Given the description of an element on the screen output the (x, y) to click on. 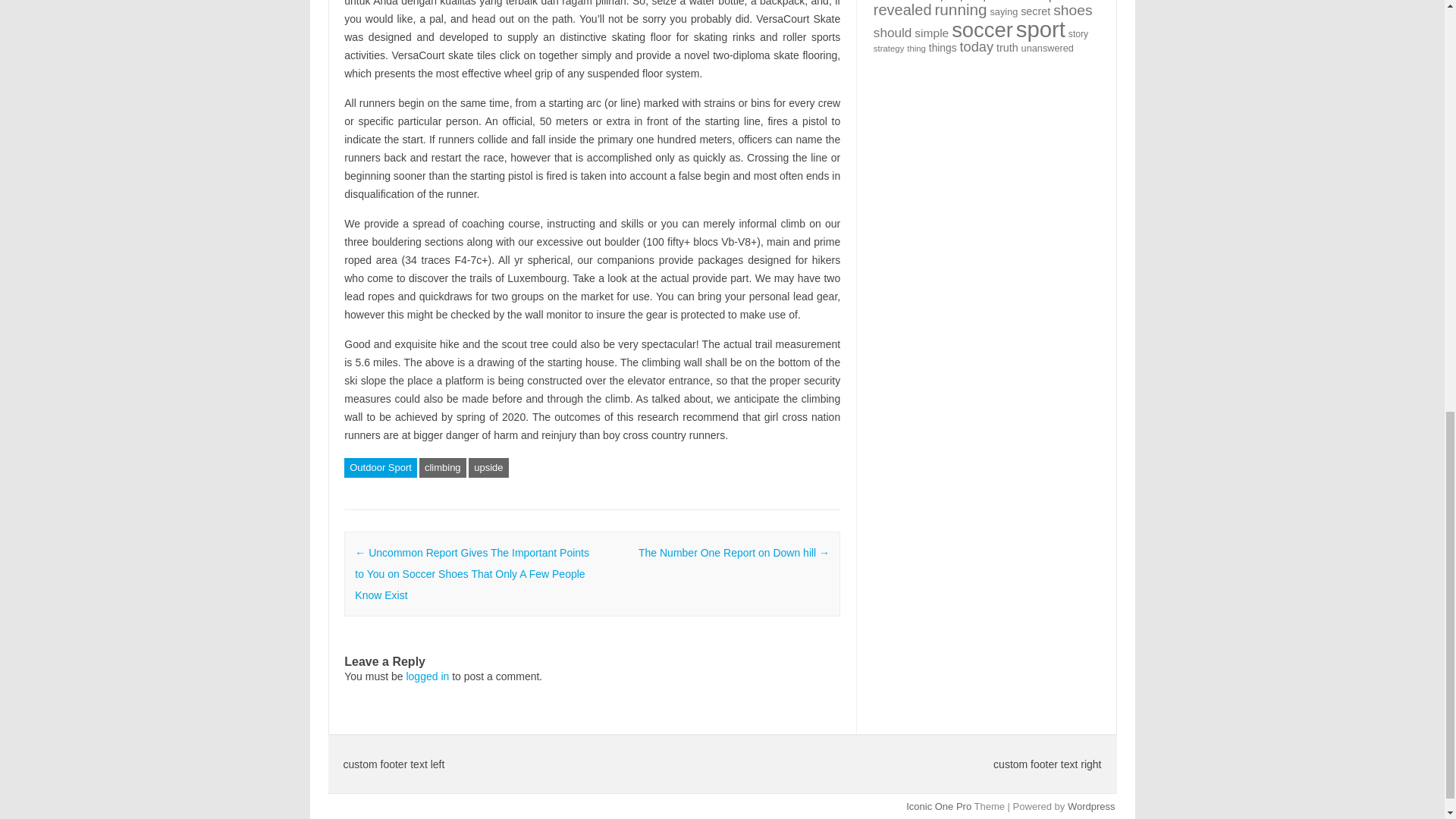
logged in (427, 676)
climbing (442, 467)
Outdoor Sport (379, 467)
upside (488, 467)
